Given the description of an element on the screen output the (x, y) to click on. 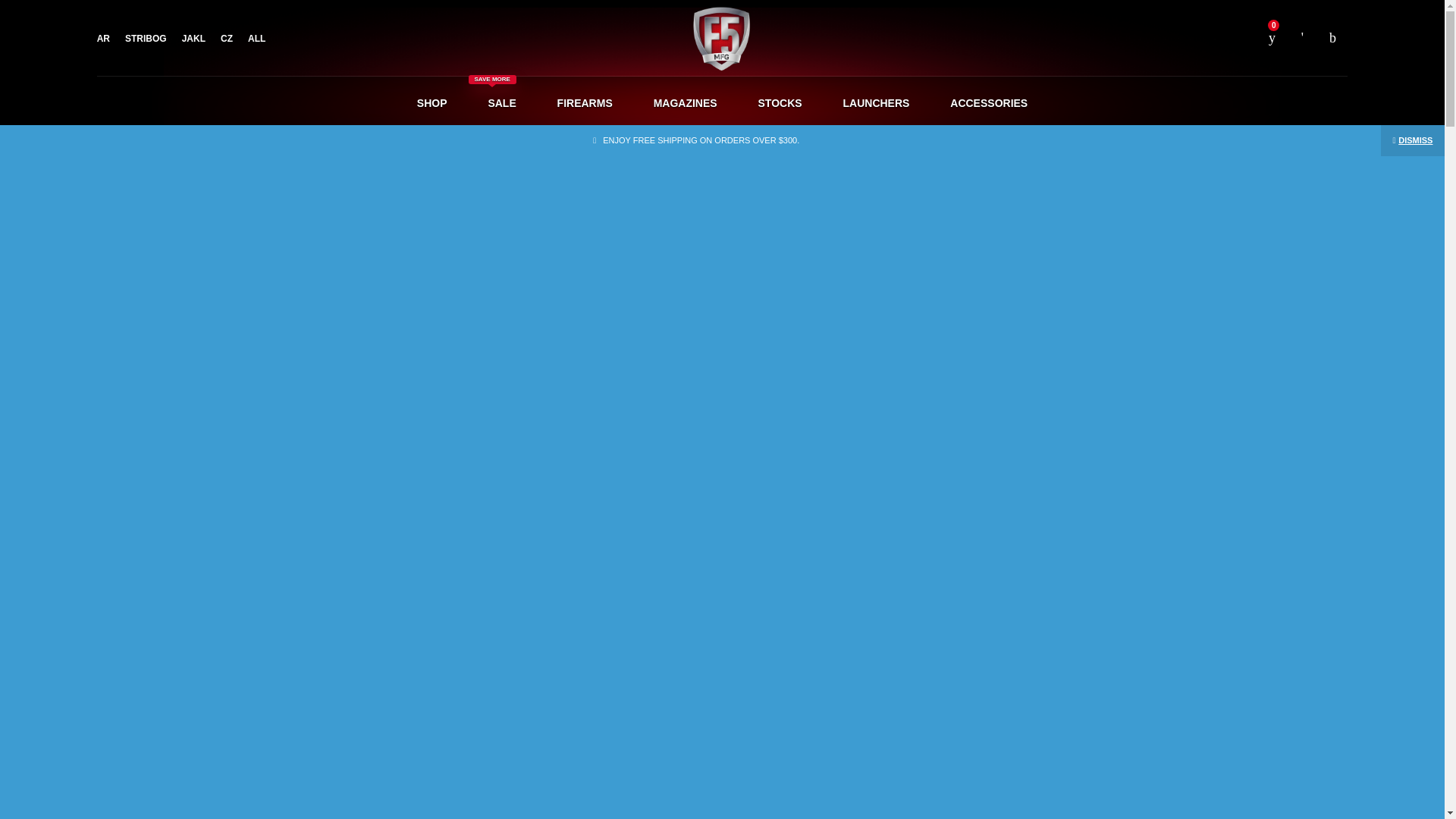
MAGAZINES (685, 102)
HOME (540, 162)
AR (103, 37)
PRODUCTS (592, 162)
JAKL (193, 37)
25906 (1046, 737)
LAUNCHERS (875, 102)
223500 (1046, 644)
SALE (641, 162)
STRIBOG (501, 102)
STOCKS (146, 37)
ALL (779, 102)
CZ (255, 37)
SHOP (226, 37)
